Given the description of an element on the screen output the (x, y) to click on. 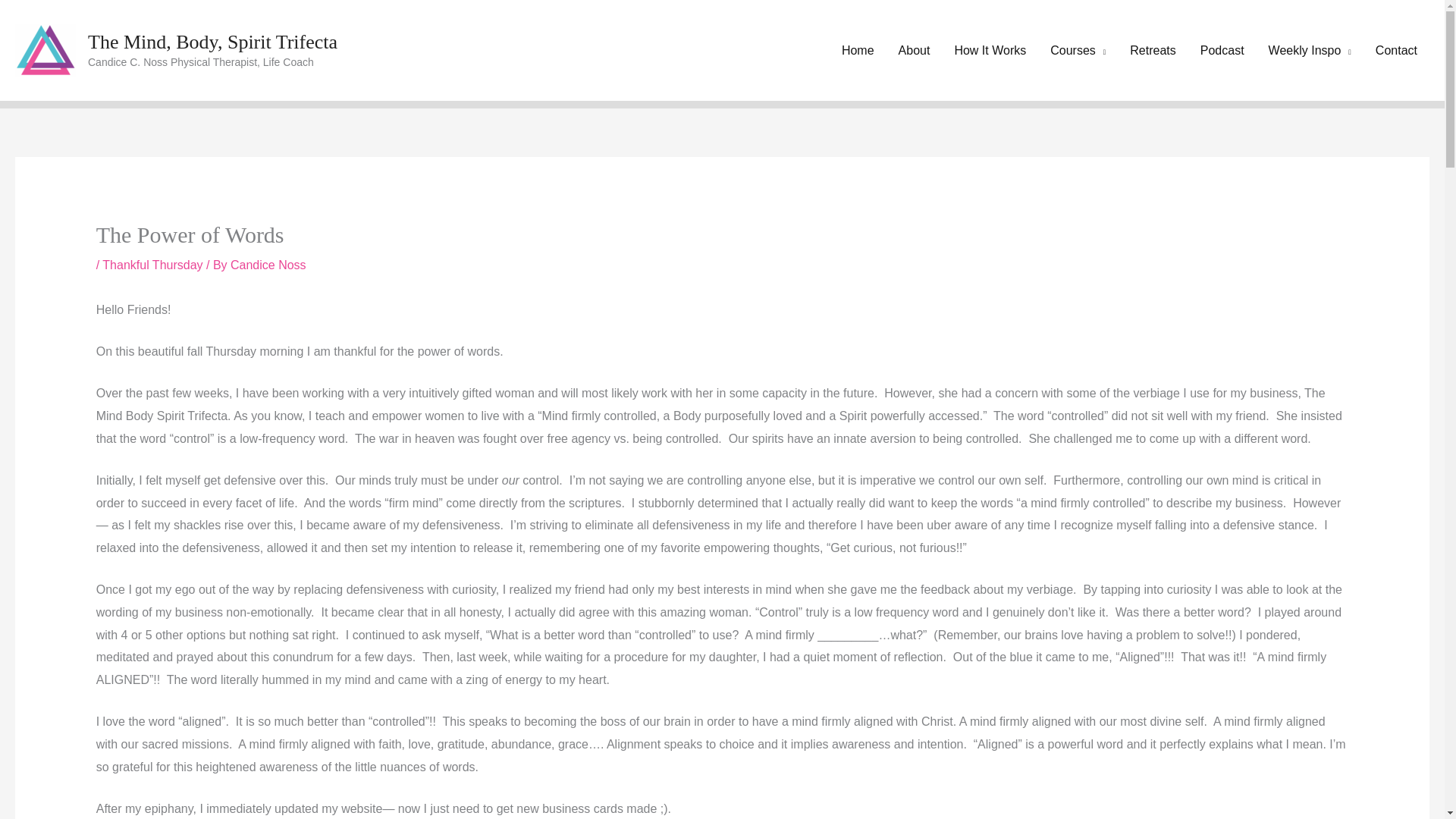
How It Works (990, 49)
The Mind, Body, Spirit Trifecta (212, 42)
Candice Noss (267, 264)
Contact (1395, 49)
Home (857, 49)
Thankful Thursday (151, 264)
Weekly Inspo (1309, 49)
View all posts by Candice Noss (267, 264)
Retreats (1153, 49)
About (914, 49)
